Given the description of an element on the screen output the (x, y) to click on. 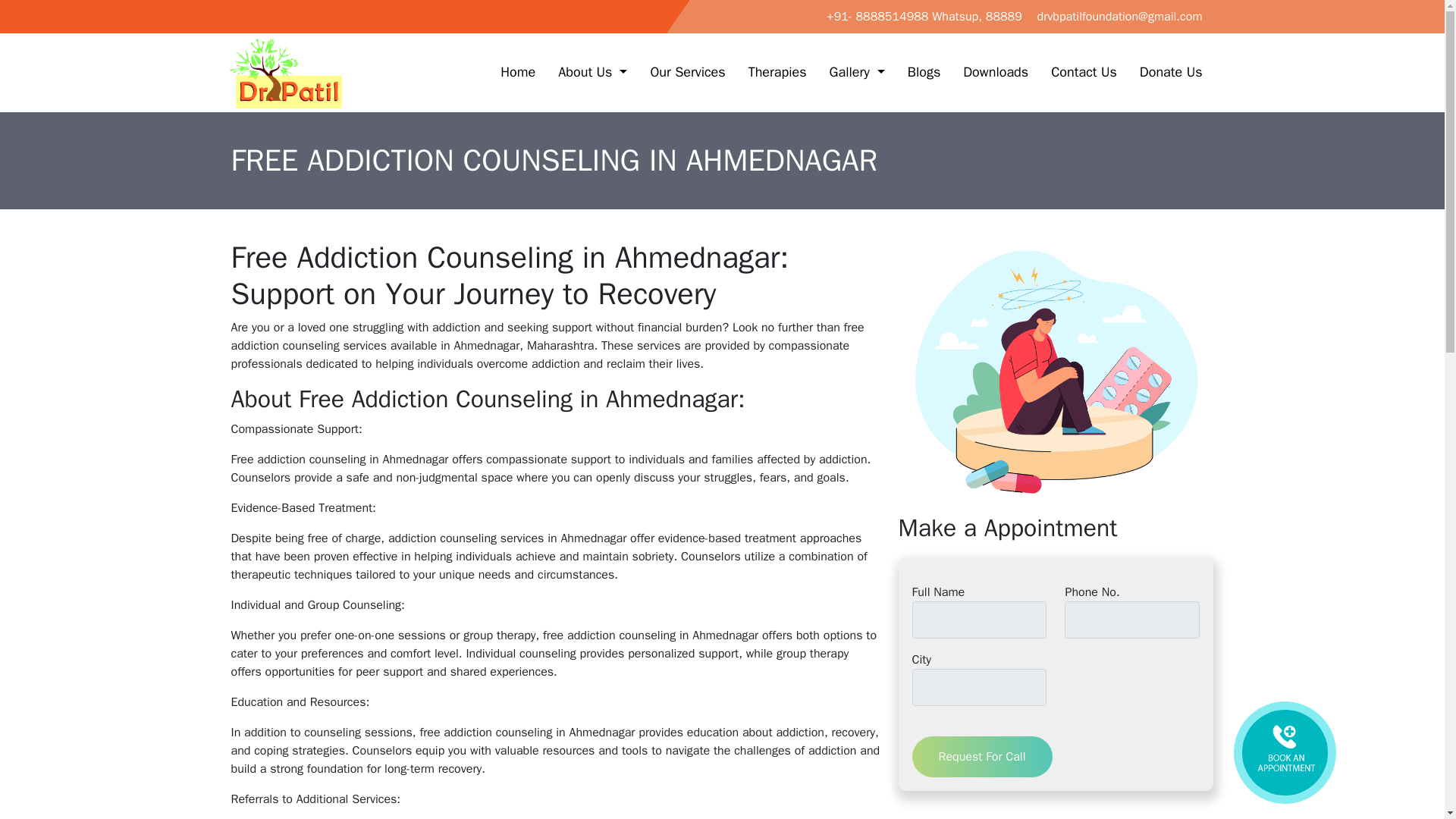
Request For Call (981, 756)
twitter (257, 8)
Our Services (687, 72)
Facebook (239, 8)
Donate Us (1171, 72)
Downloads (995, 72)
Contact Us (1083, 72)
Blogs (924, 72)
Home (518, 72)
Therapies (777, 72)
About Us (593, 72)
Gallery (857, 72)
